Given the description of an element on the screen output the (x, y) to click on. 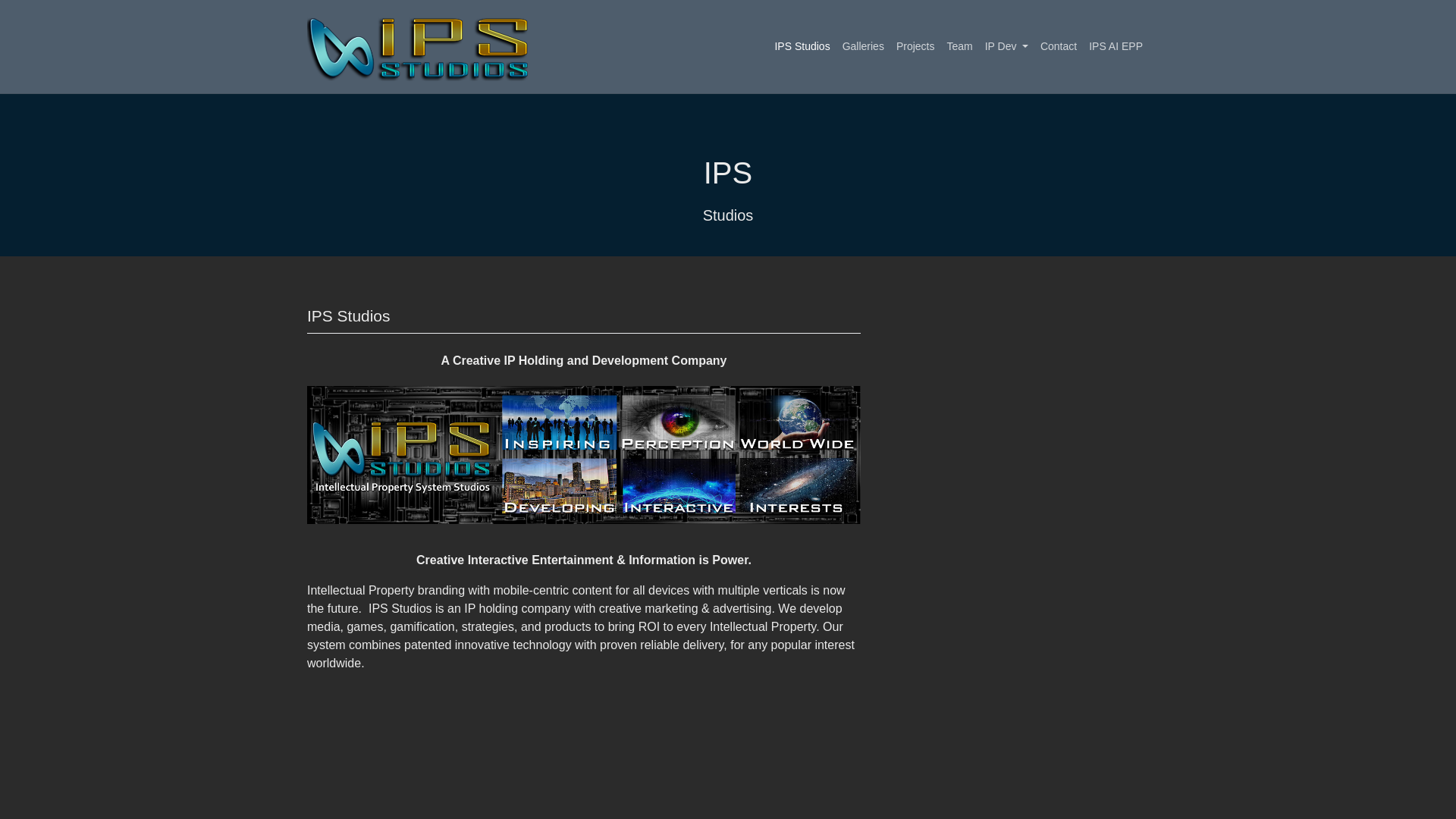
Galleries (862, 46)
IPS Studios (801, 46)
IP Dev (1005, 46)
Team (959, 46)
Contact (1058, 46)
IPS AI EPP (1115, 46)
IPS AI EPP (1115, 46)
Projects (914, 46)
Contact (1058, 46)
Projects (914, 46)
